Given the description of an element on the screen output the (x, y) to click on. 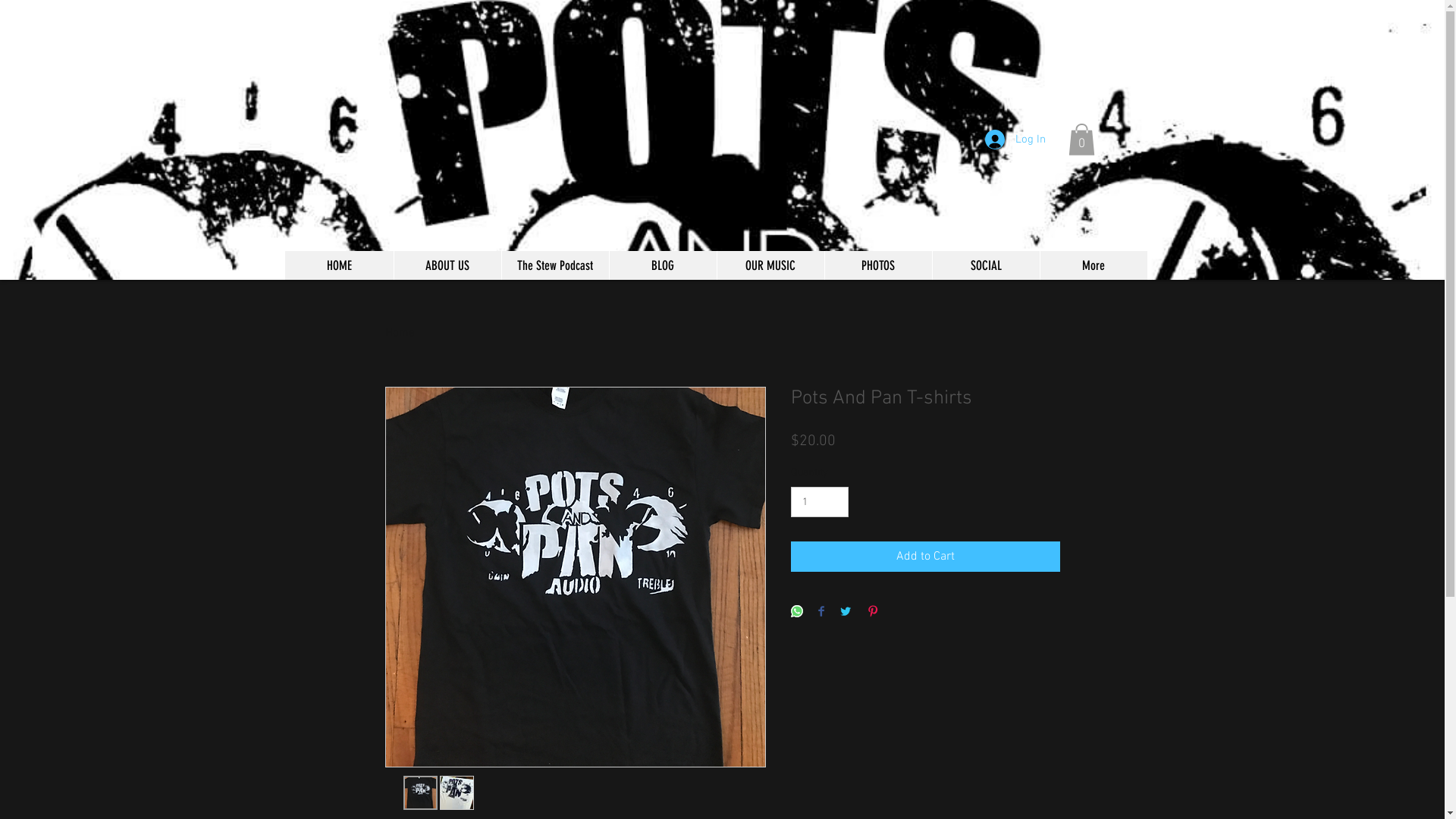
Log In Element type: text (1014, 139)
Add to Cart Element type: text (924, 556)
ABOUT US Element type: text (446, 265)
OUR MUSIC Element type: text (769, 265)
0 Element type: text (1080, 139)
HOME Element type: text (339, 265)
BLOG Element type: text (661, 265)
Home Element type: text (399, 332)
SOCIAL Element type: text (984, 265)
The Stew Podcast Element type: text (554, 265)
PHOTOS Element type: text (877, 265)
